Given the description of an element on the screen output the (x, y) to click on. 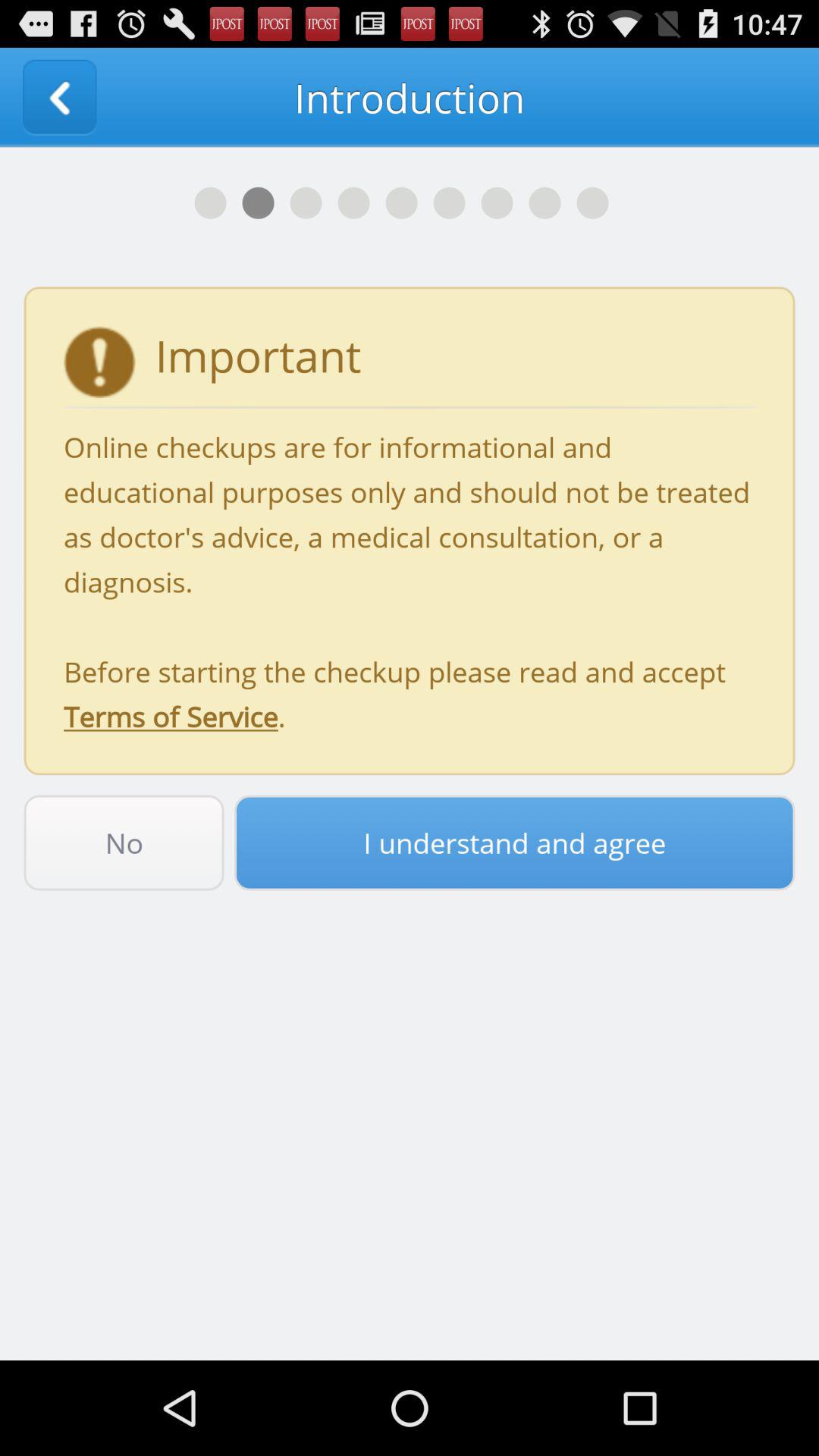
press the item next to the no icon (514, 842)
